Given the description of an element on the screen output the (x, y) to click on. 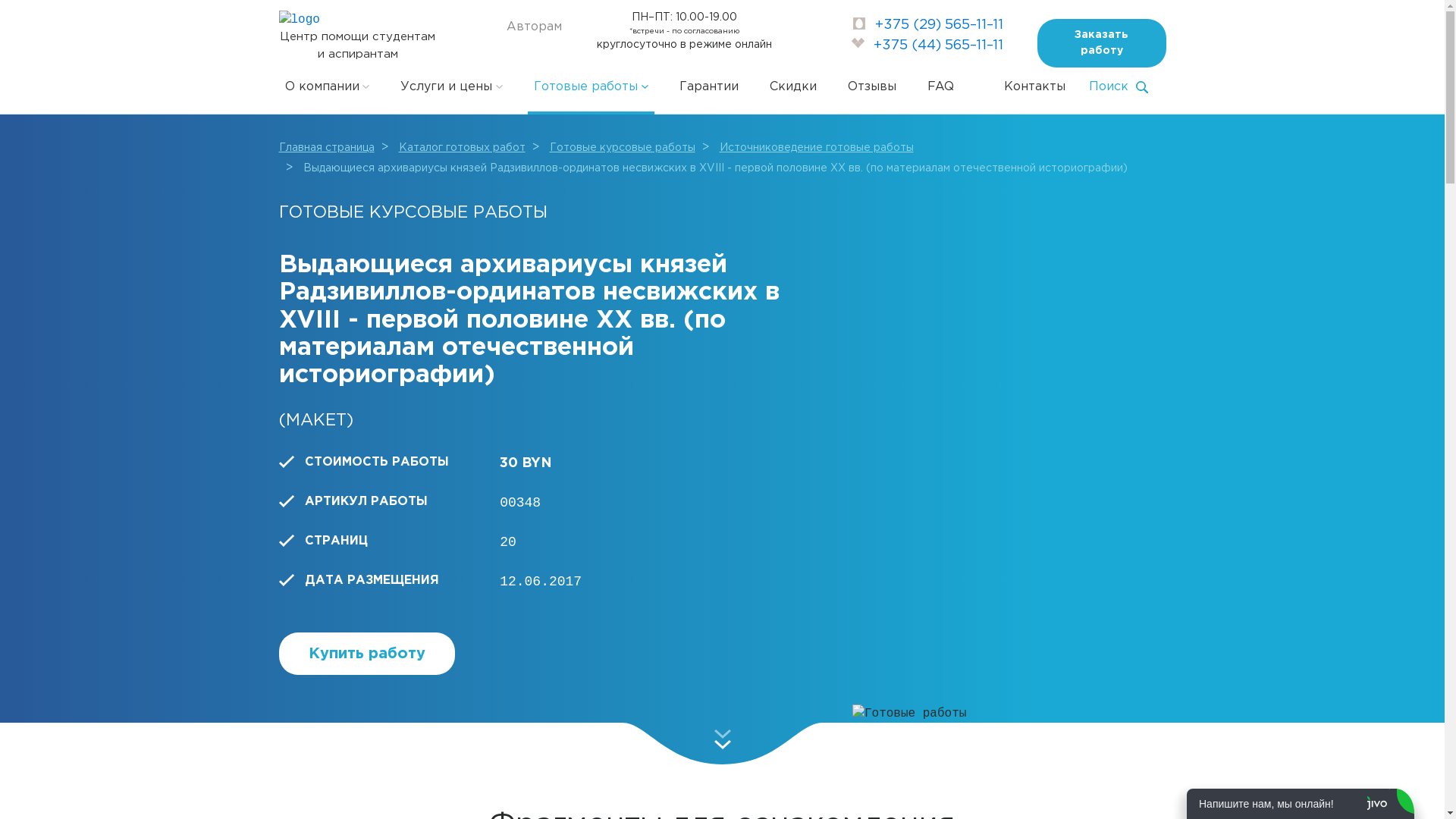
logo Element type: hover (299, 19)
FAQ Element type: text (940, 87)
